Given the description of an element on the screen output the (x, y) to click on. 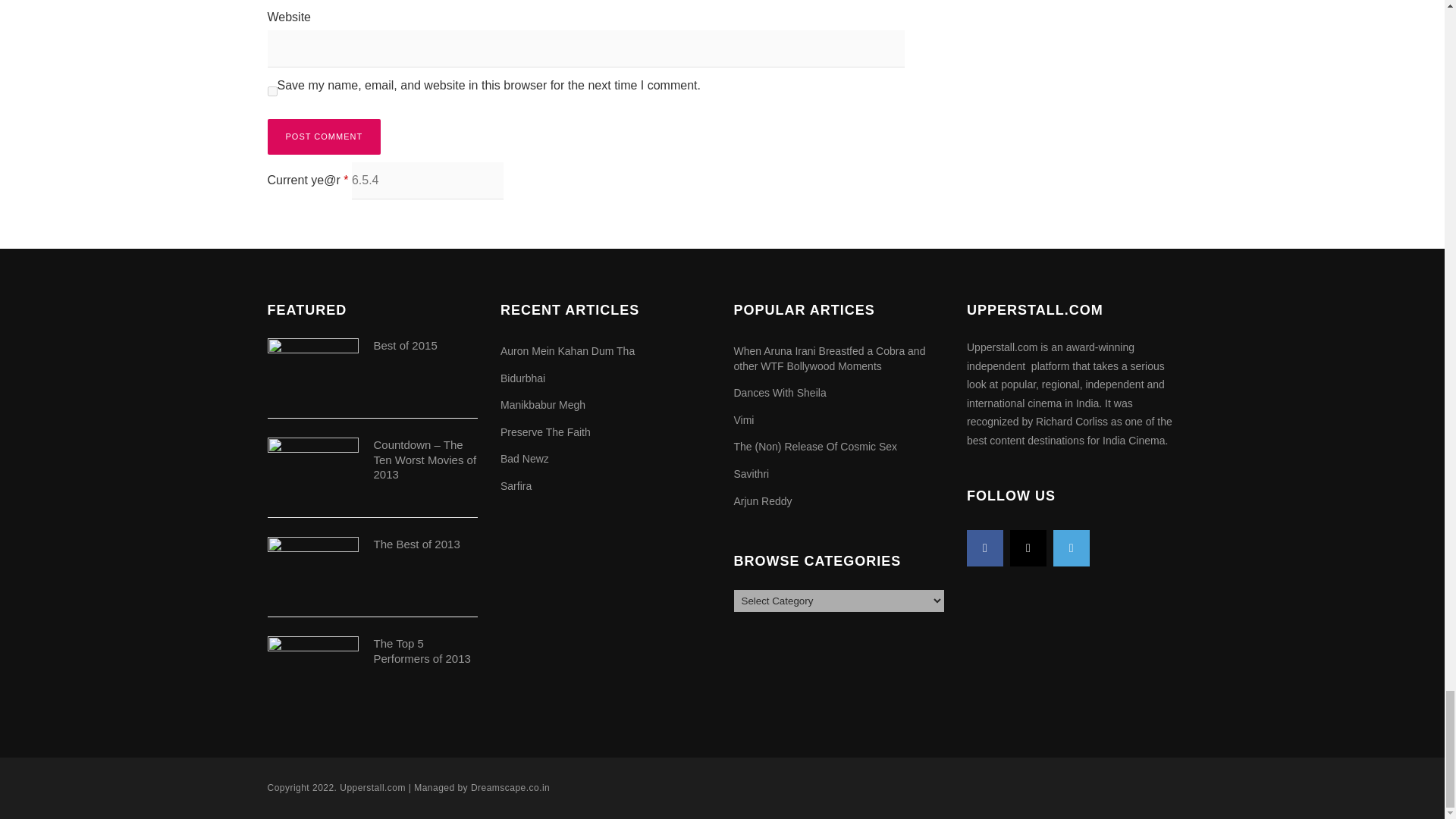
Post Comment (323, 136)
yes (271, 91)
6.5.4 (427, 180)
